Given the description of an element on the screen output the (x, y) to click on. 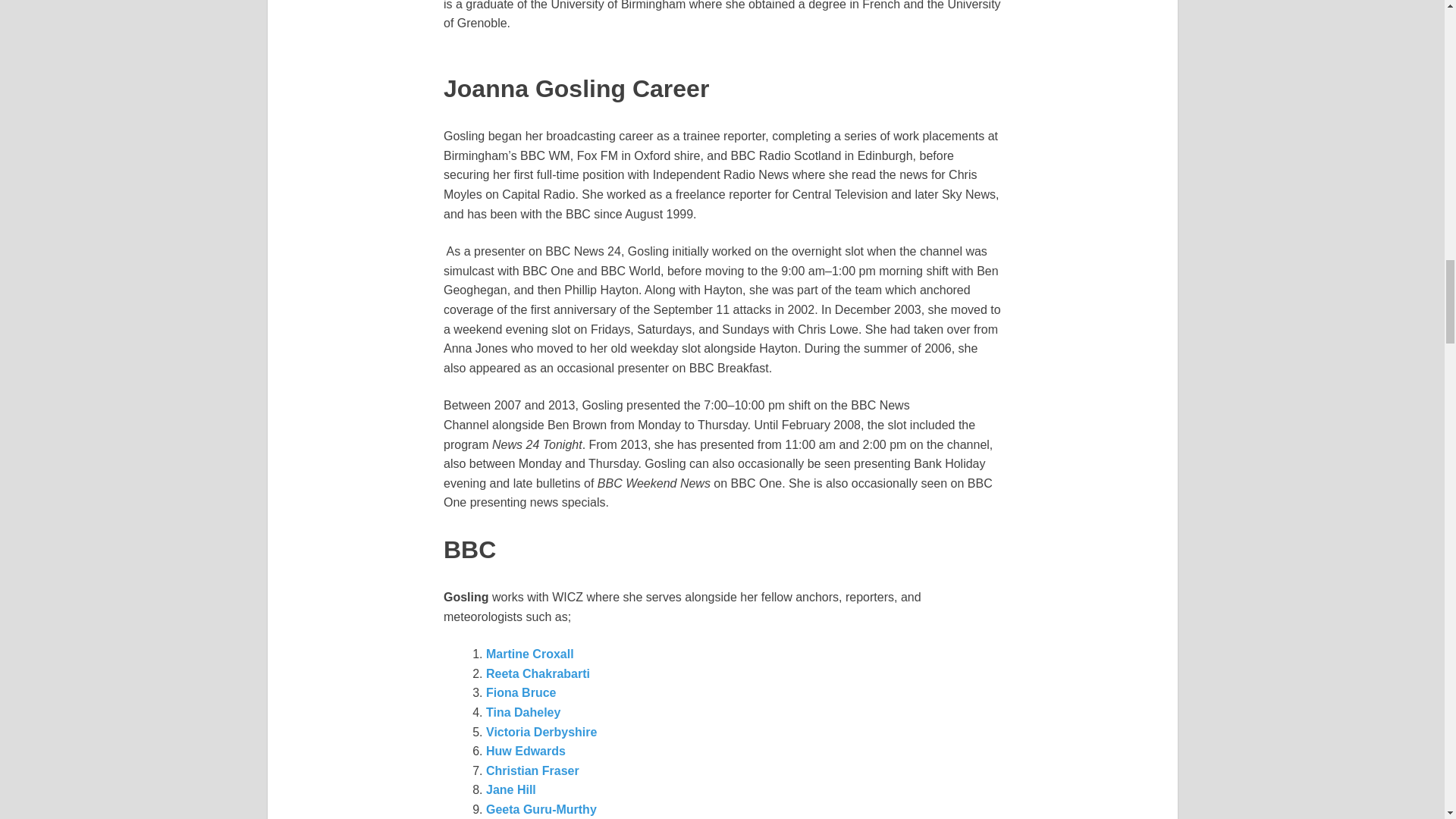
Geeta Guru-Murthy (541, 809)
Reeta Chakrabarti (537, 673)
Victoria Derbyshire (541, 731)
Huw Edwards (526, 750)
Christian Fraser (532, 770)
Jane Hill (510, 789)
Tina Daheley (523, 712)
Martine Croxall (529, 653)
Fiona Bruce (521, 692)
